Given the description of an element on the screen output the (x, y) to click on. 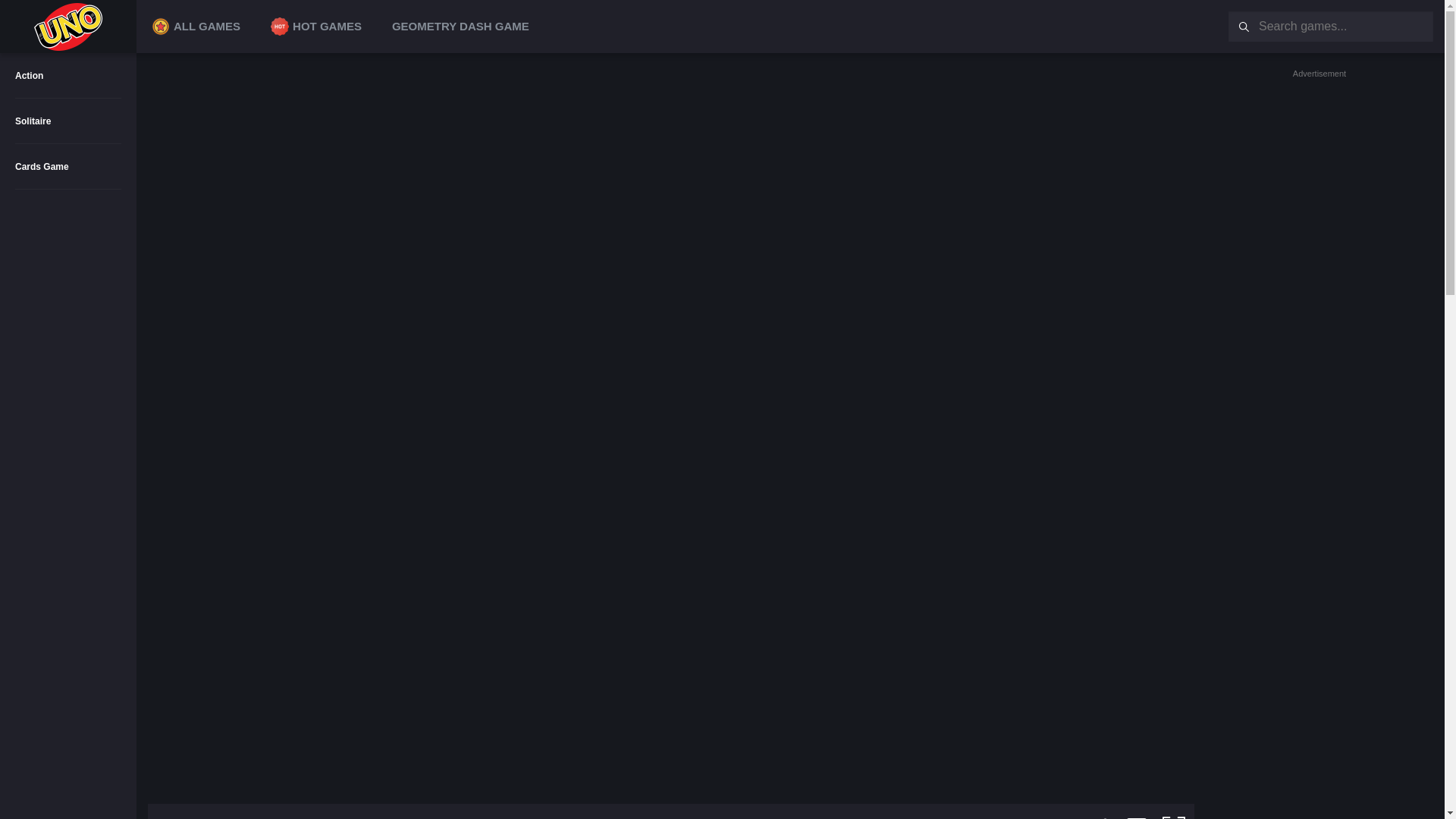
all games (160, 26)
Action (68, 75)
GEOMETRY DASH GAME (460, 26)
Cards Game (68, 166)
Solitaire (68, 121)
Geometry Dash Game (460, 26)
hot games (279, 26)
Uno Online (68, 26)
HOT GAMES (316, 26)
